Given the description of an element on the screen output the (x, y) to click on. 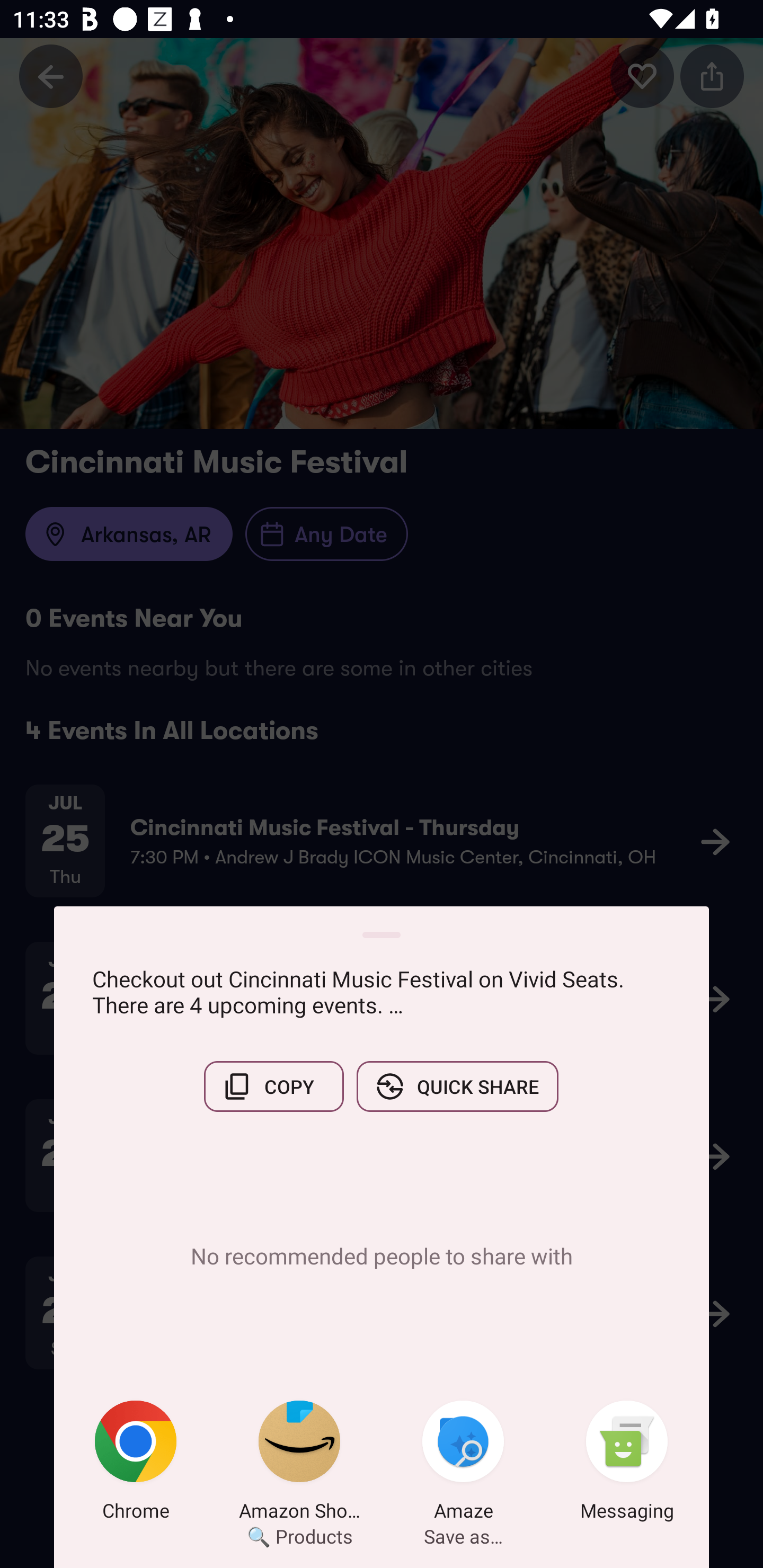
COPY (273, 1086)
QUICK SHARE (457, 1086)
Chrome (135, 1463)
Amazon Shopping 🔍 Products (299, 1463)
Amaze Save as… (463, 1463)
Messaging (626, 1463)
